Given the description of an element on the screen output the (x, y) to click on. 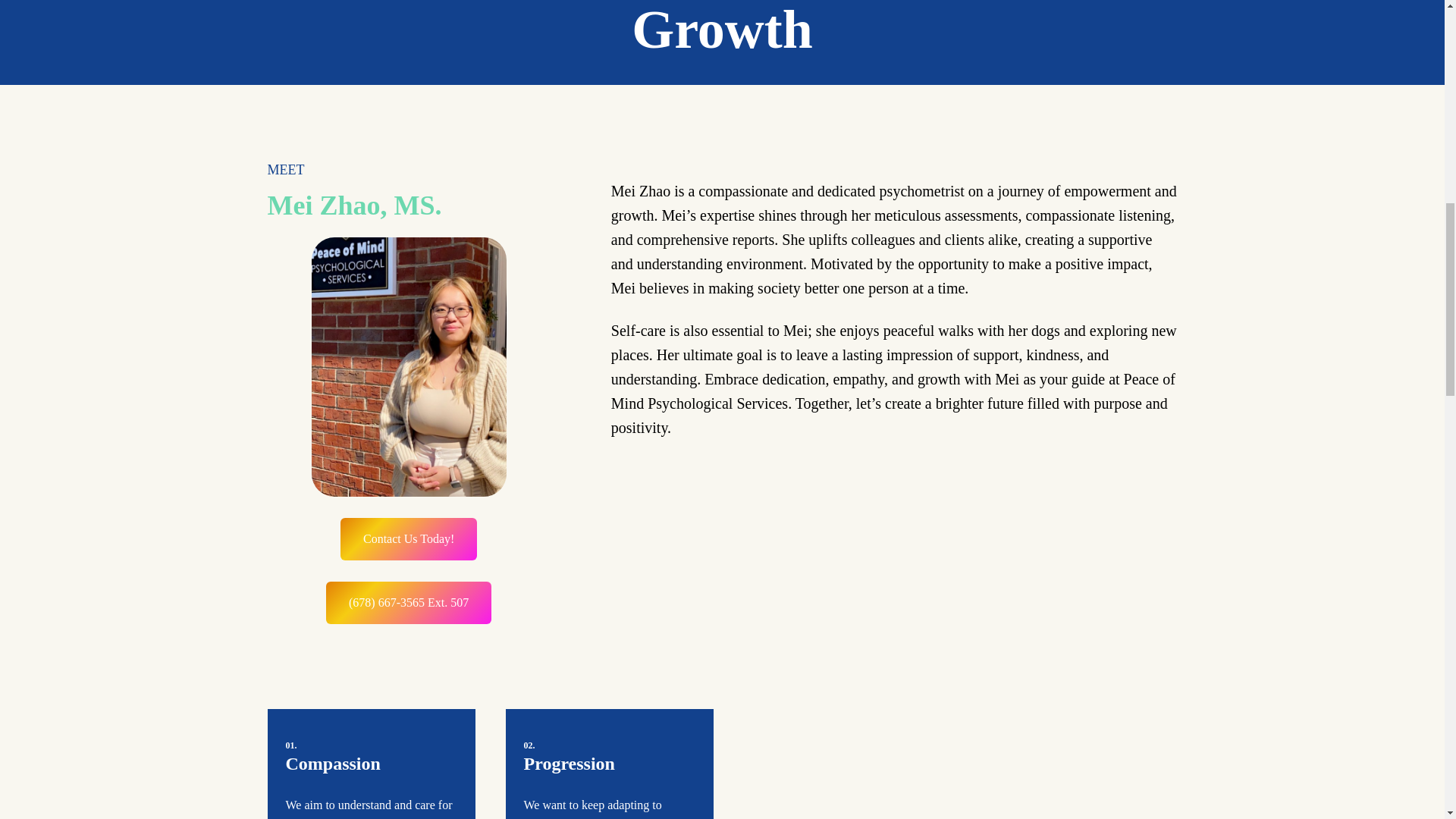
Contact Us Today! (408, 538)
